Given the description of an element on the screen output the (x, y) to click on. 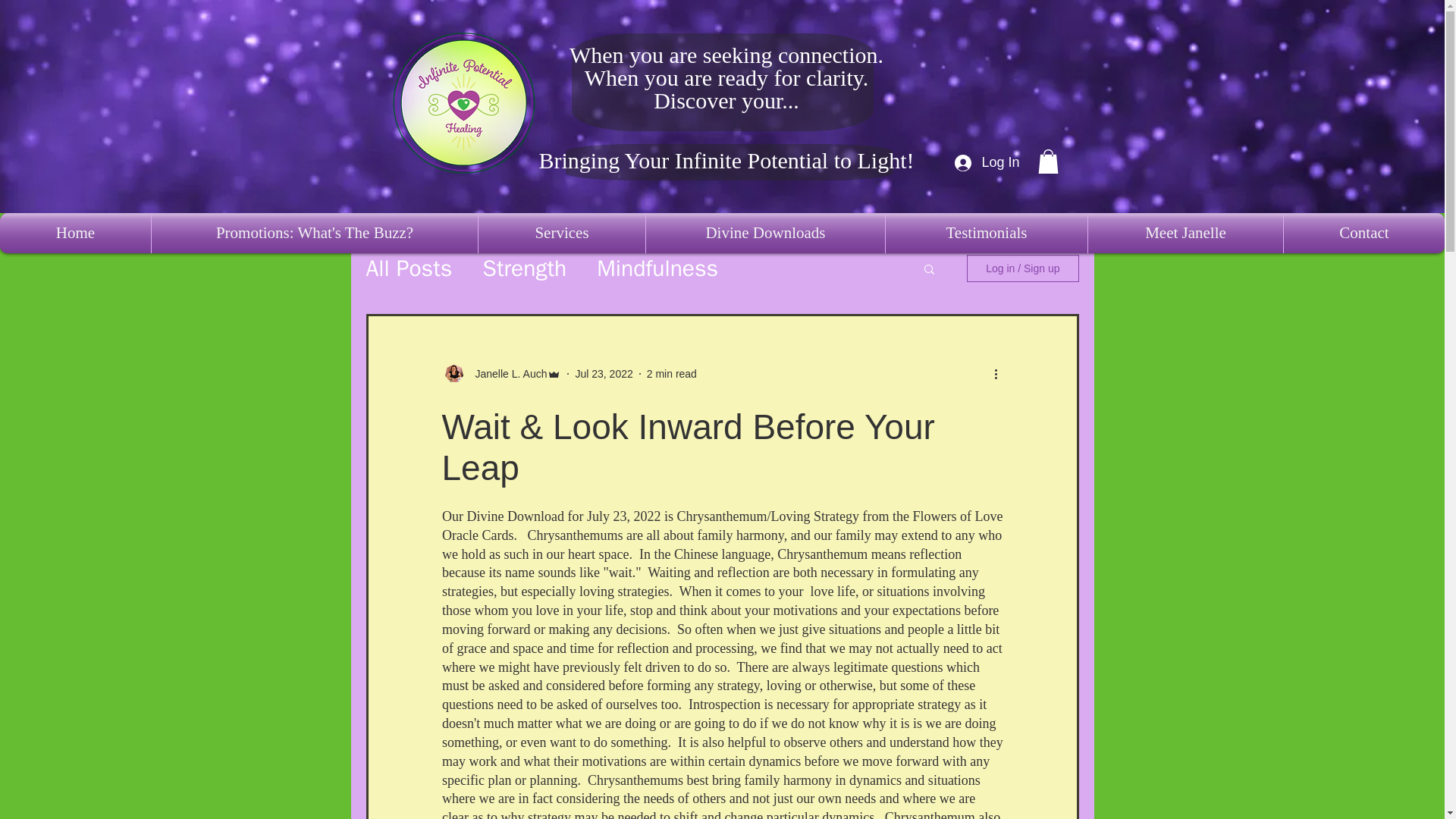
Log In (984, 162)
2 min read (671, 373)
Mindfulness (656, 268)
Janelle L. Auch (500, 373)
Home (75, 232)
Strength (523, 268)
Jul 23, 2022 (603, 373)
All Posts (408, 268)
Promotions: What's The Buzz? (314, 232)
Janelle L. Auch (506, 374)
